Given the description of an element on the screen output the (x, y) to click on. 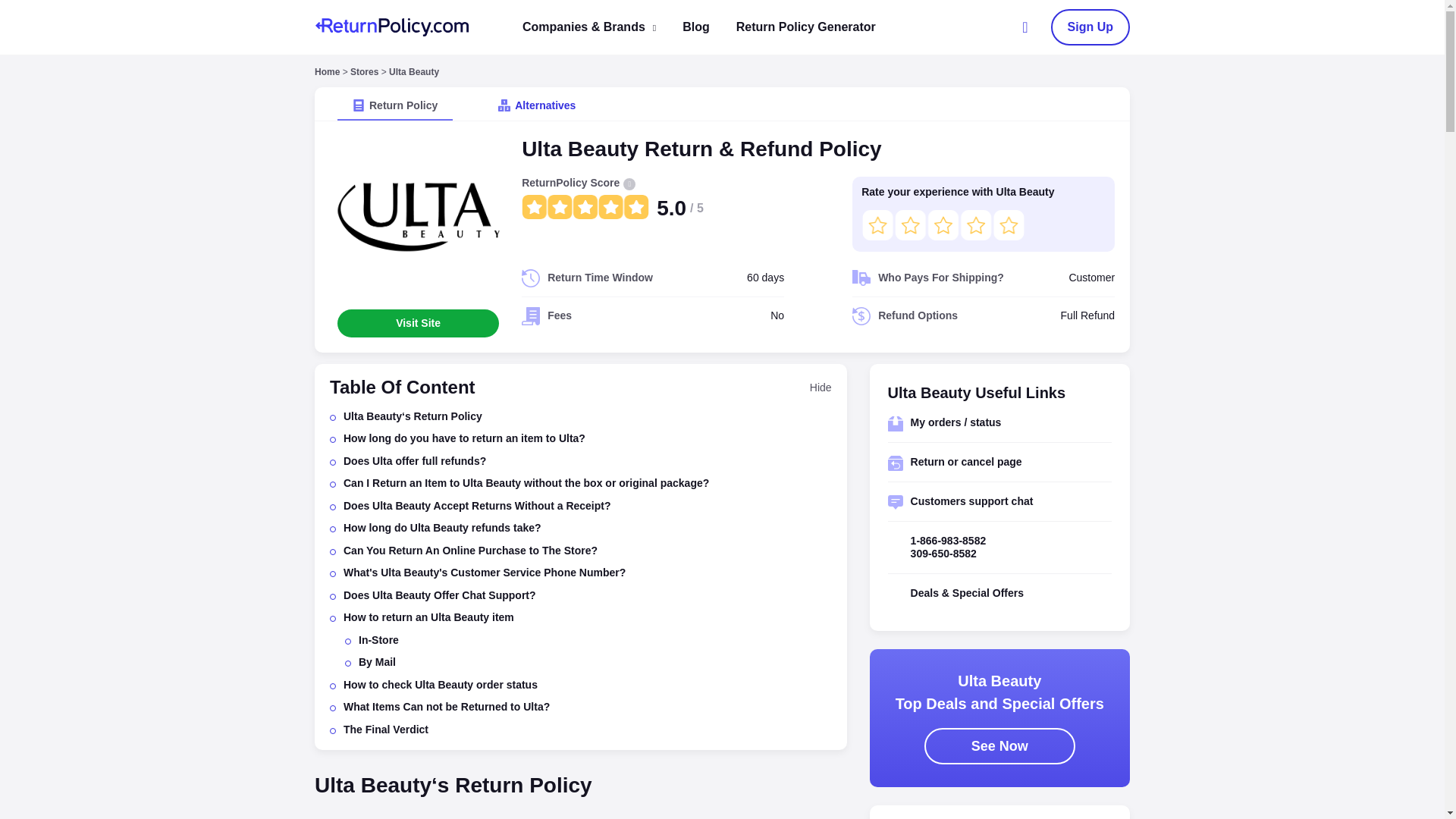
Jump to Does Ulta offer full refunds? (414, 461)
Jump to How to return an Ulta Beauty item (428, 617)
Jump to The Final Verdict (385, 729)
Jump to How long do you have to return an item to Ulta? (464, 438)
Jump to Does Ulta Beauty Offer Chat Support? (439, 595)
Jump to Does Ulta Beauty Accept Returns Without a Receipt? (477, 505)
Jump to What Items Can not be Returned to Ulta? (446, 706)
Jump to How long do Ulta Beauty refunds take? (442, 527)
